Given the description of an element on the screen output the (x, y) to click on. 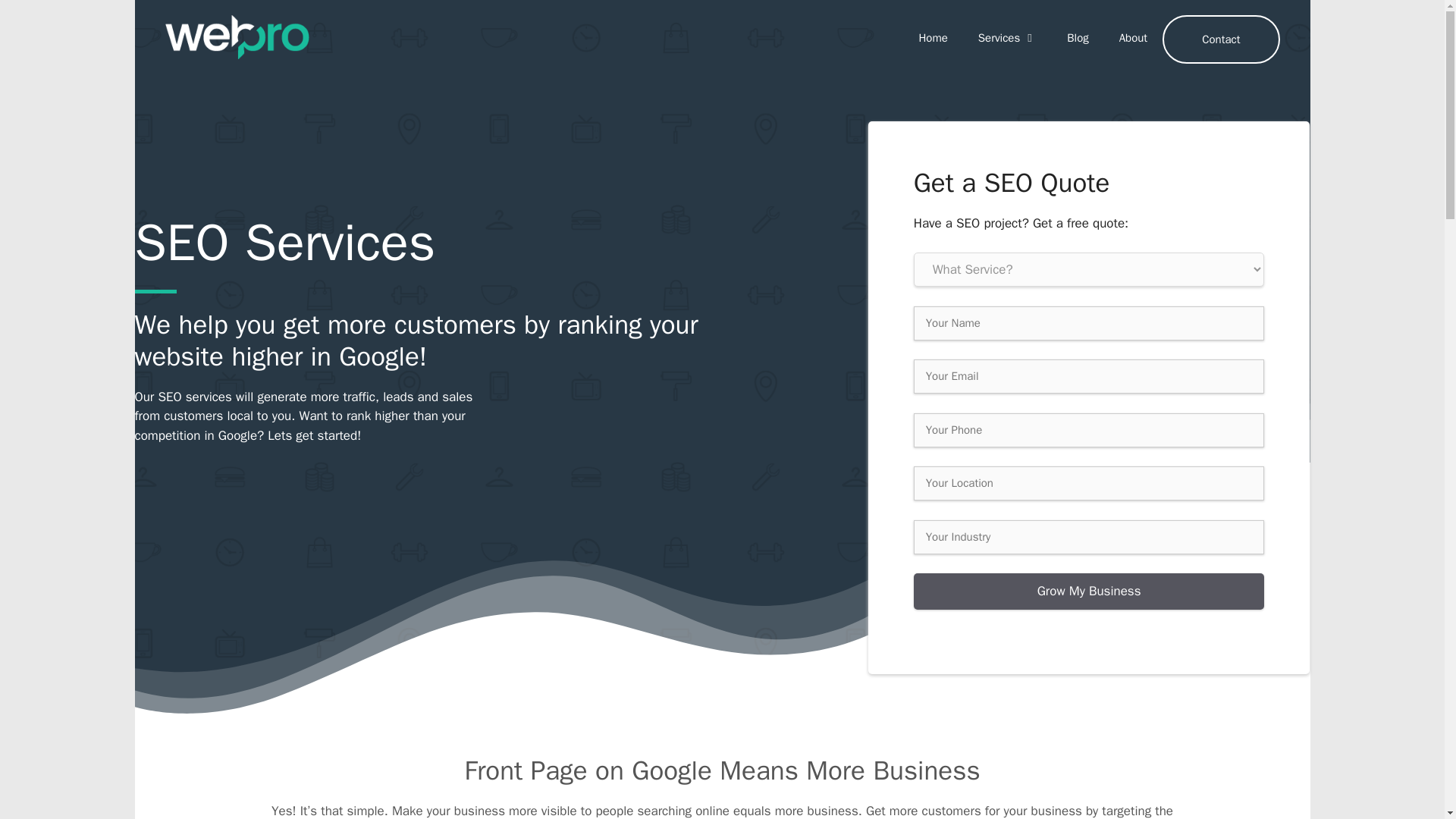
Blog (1077, 37)
Grow My Business (1089, 591)
Services (1006, 37)
About (1132, 37)
Home (932, 37)
Contact (1220, 39)
Grow My Business (1089, 591)
